Given the description of an element on the screen output the (x, y) to click on. 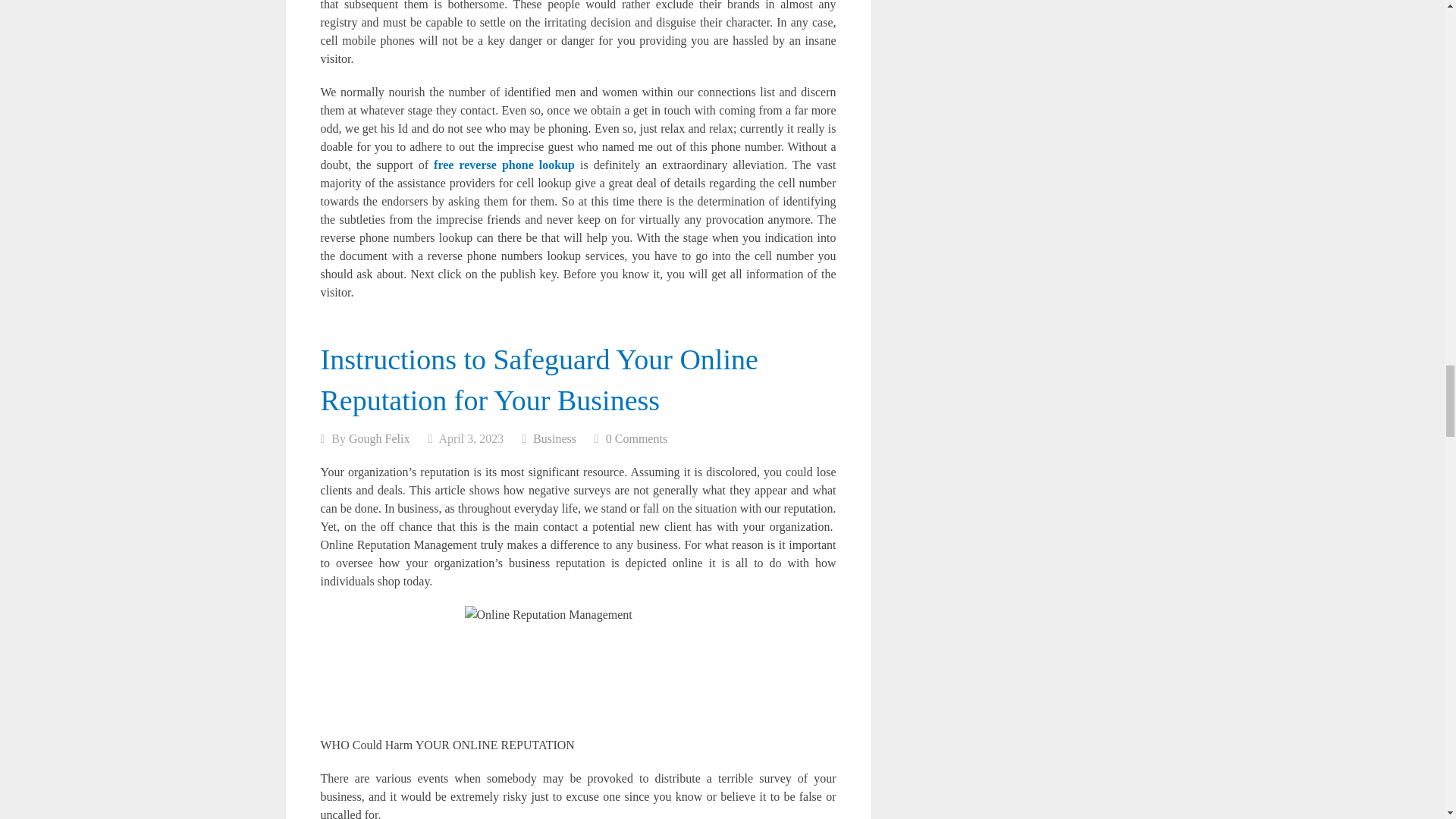
Business (554, 438)
free reverse phone lookup (504, 164)
Gough Felix (379, 438)
Posts by Gough Felix (379, 438)
0 Comments (635, 438)
